Given the description of an element on the screen output the (x, y) to click on. 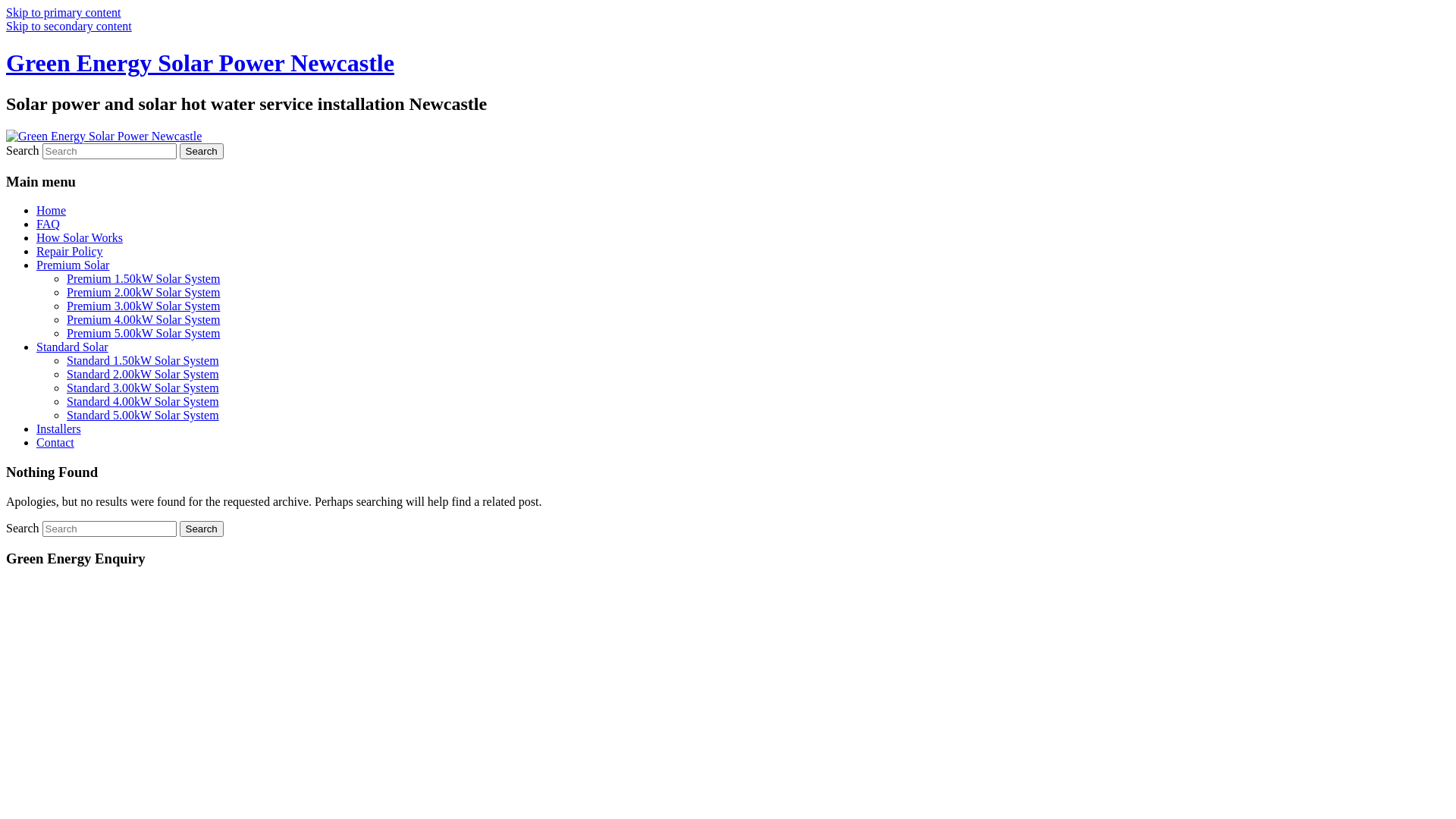
Green Energy Solar Power Newcastle Element type: text (200, 62)
Search Element type: text (201, 151)
Premium 5.00kW Solar System Element type: text (142, 332)
Premium 4.00kW Solar System Element type: text (142, 319)
How Solar Works Element type: text (79, 237)
Premium 3.00kW Solar System Element type: text (142, 305)
Search Element type: text (201, 528)
Standard 4.00kW Solar System Element type: text (142, 401)
Standard 5.00kW Solar System Element type: text (142, 414)
Premium Solar Element type: text (72, 264)
Premium 2.00kW Solar System Element type: text (142, 291)
FAQ Element type: text (47, 223)
Standard 3.00kW Solar System Element type: text (142, 387)
Standard Solar Element type: text (72, 346)
Home Element type: text (50, 209)
Skip to secondary content Element type: text (68, 25)
Standard 2.00kW Solar System Element type: text (142, 373)
Standard 1.50kW Solar System Element type: text (142, 360)
Premium 1.50kW Solar System Element type: text (142, 278)
Installers Element type: text (58, 428)
Contact Element type: text (55, 442)
Repair Policy Element type: text (69, 250)
Skip to primary content Element type: text (63, 12)
